Given the description of an element on the screen output the (x, y) to click on. 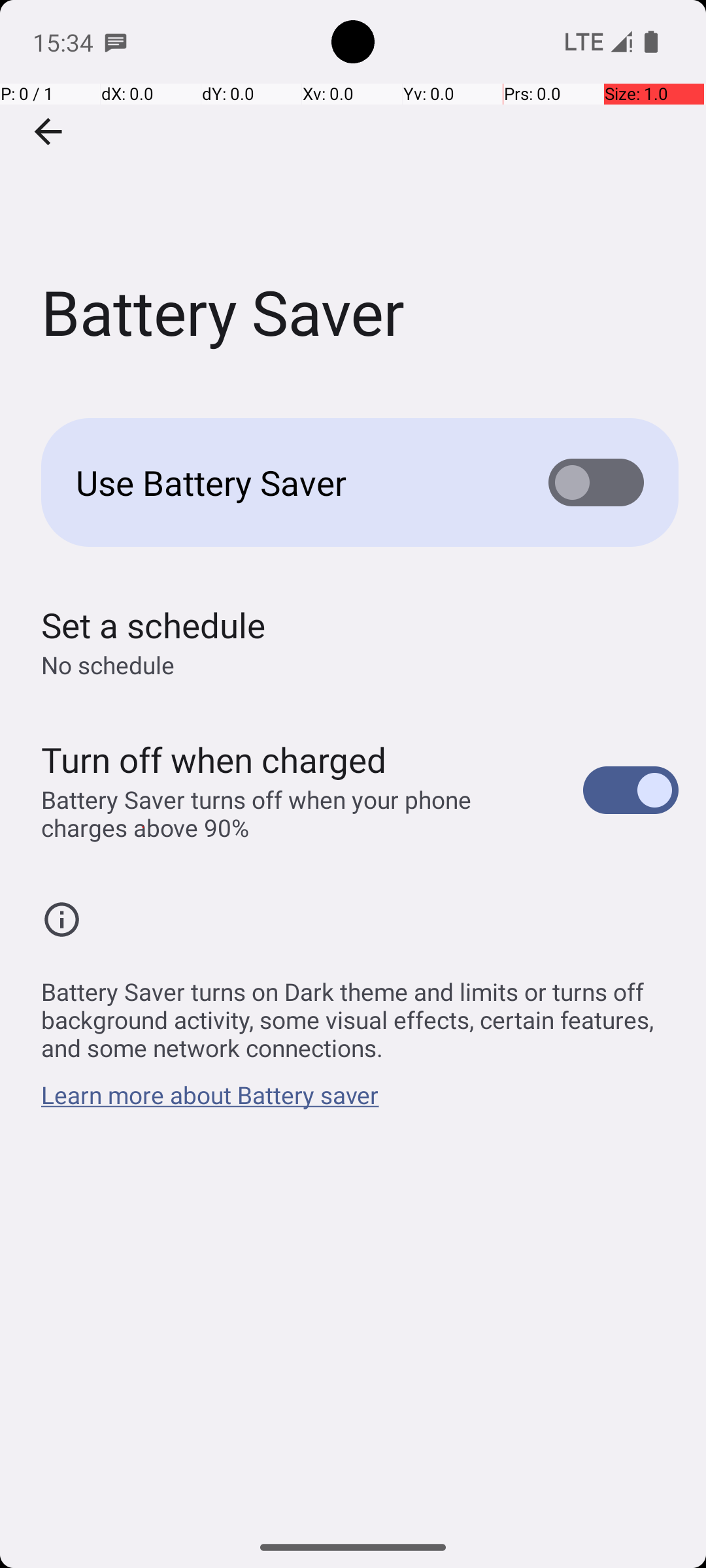
Use Battery Saver Element type: android.widget.TextView (291, 482)
Turn off when charged Element type: android.widget.TextView (213, 759)
Battery Saver turns off when your phone charges above 90% Element type: android.widget.TextView (298, 813)
Battery Saver turns on Dark theme and limits or turns off background activity, some visual effects, certain features, and some network connections. Element type: android.widget.TextView (359, 1012)
Learn more about Battery saver Element type: android.widget.TextView (210, 1101)
